Given the description of an element on the screen output the (x, y) to click on. 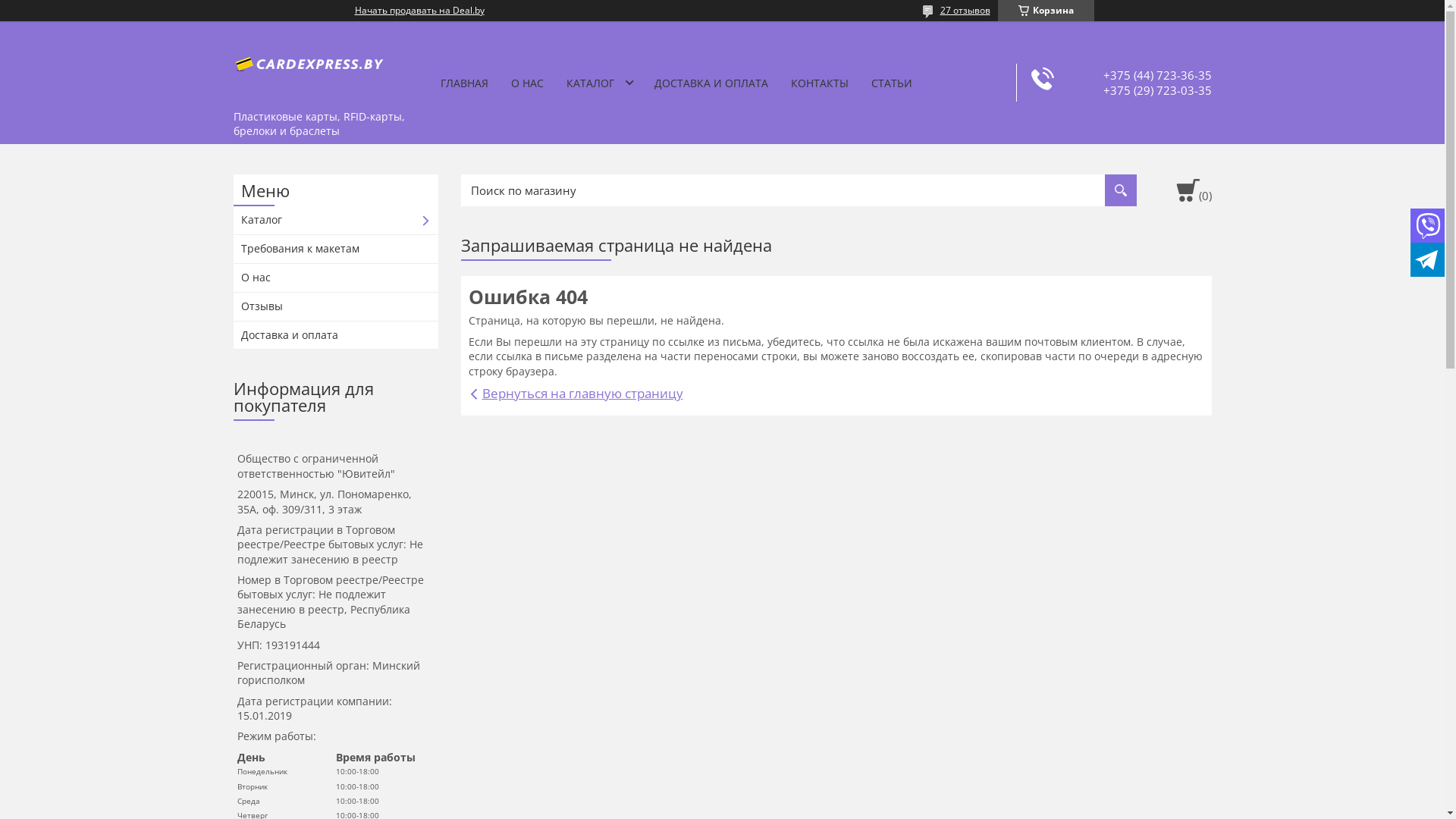
CARDEXPRESS.BY Element type: hover (309, 62)
